Given the description of an element on the screen output the (x, y) to click on. 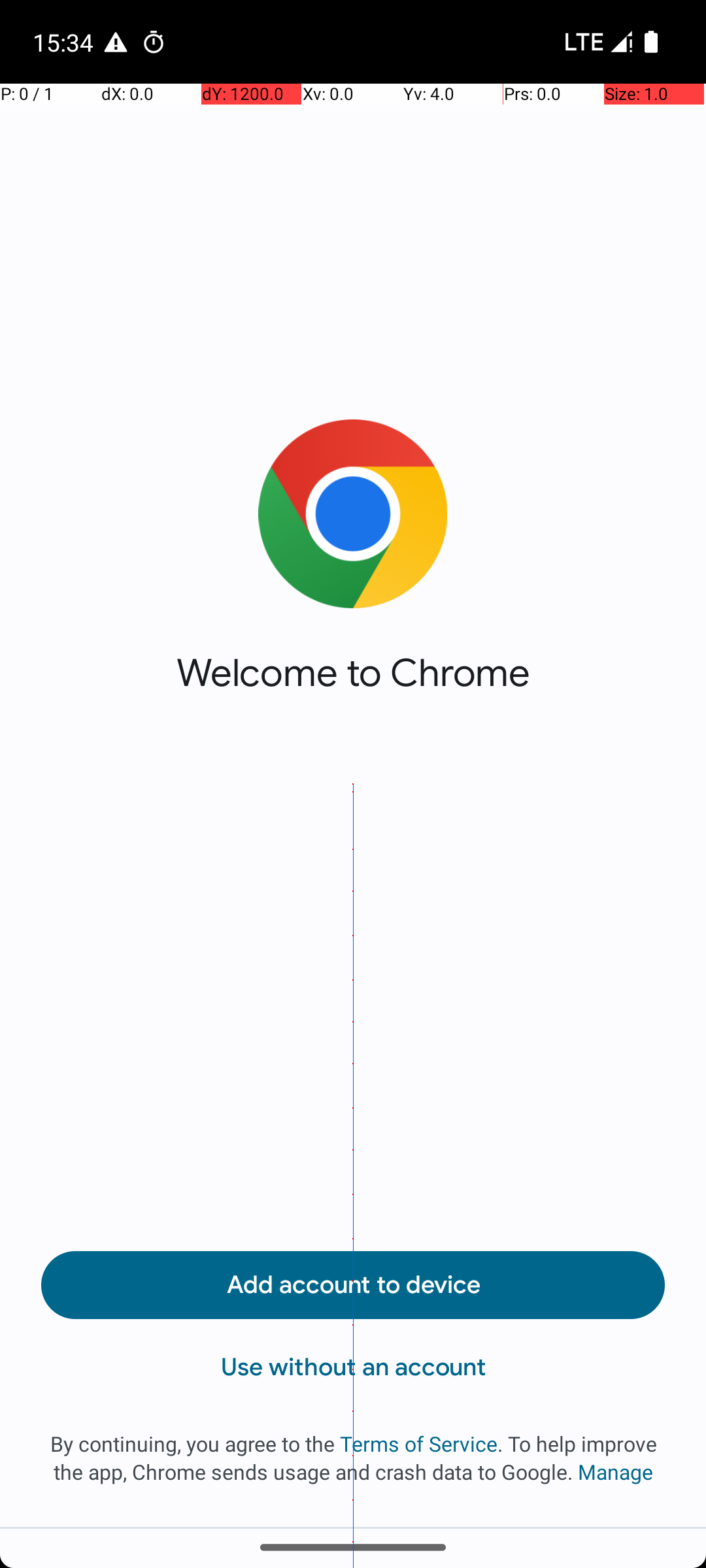
Welcome to Chrome Element type: android.widget.TextView (353, 673)
